Given the description of an element on the screen output the (x, y) to click on. 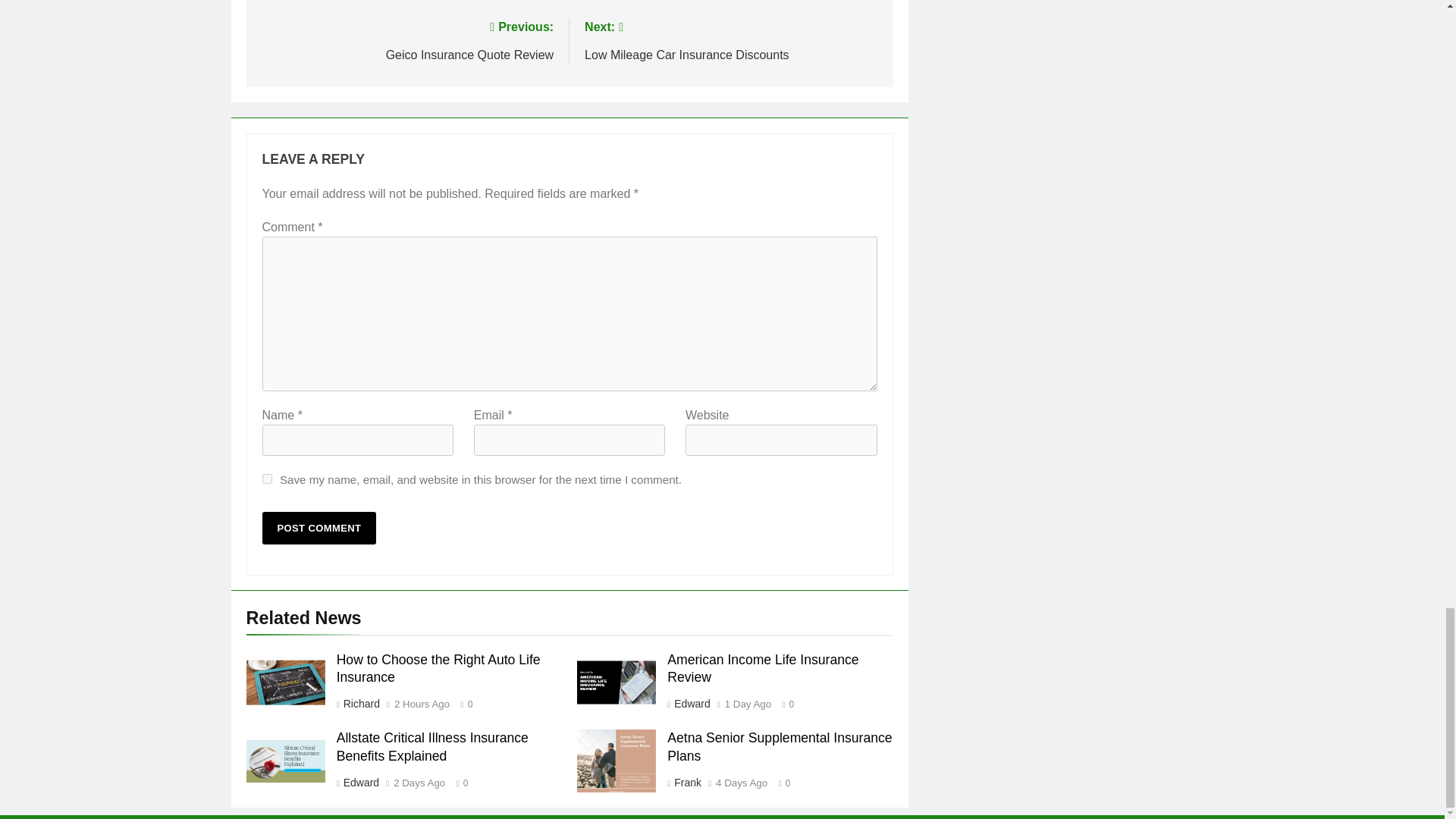
yes (267, 479)
Post Comment (319, 527)
